Given the description of an element on the screen output the (x, y) to click on. 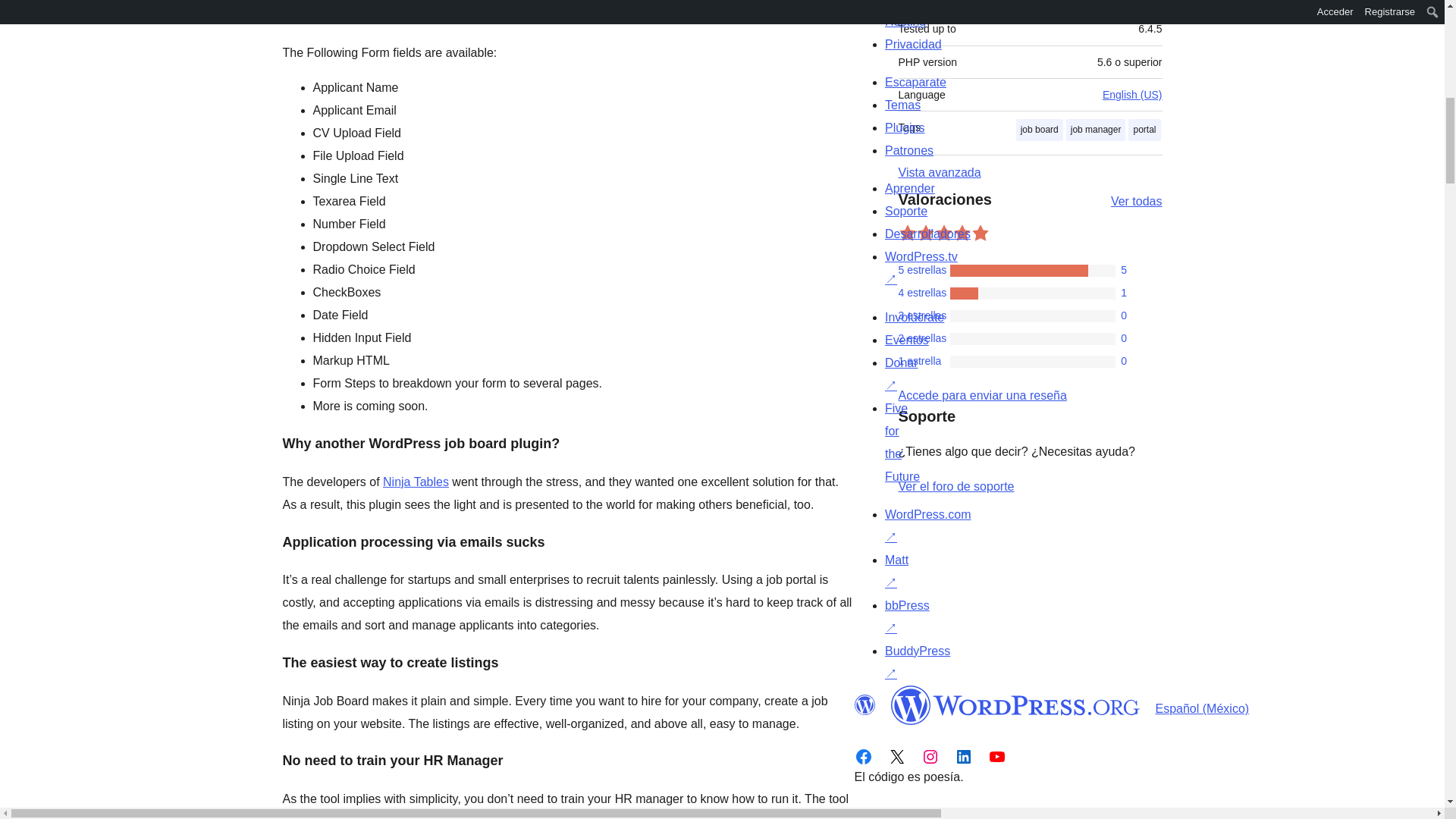
WordPress.org (864, 704)
WordPress.org (1014, 704)
Acceder a WordPress.org (981, 395)
